Given the description of an element on the screen output the (x, y) to click on. 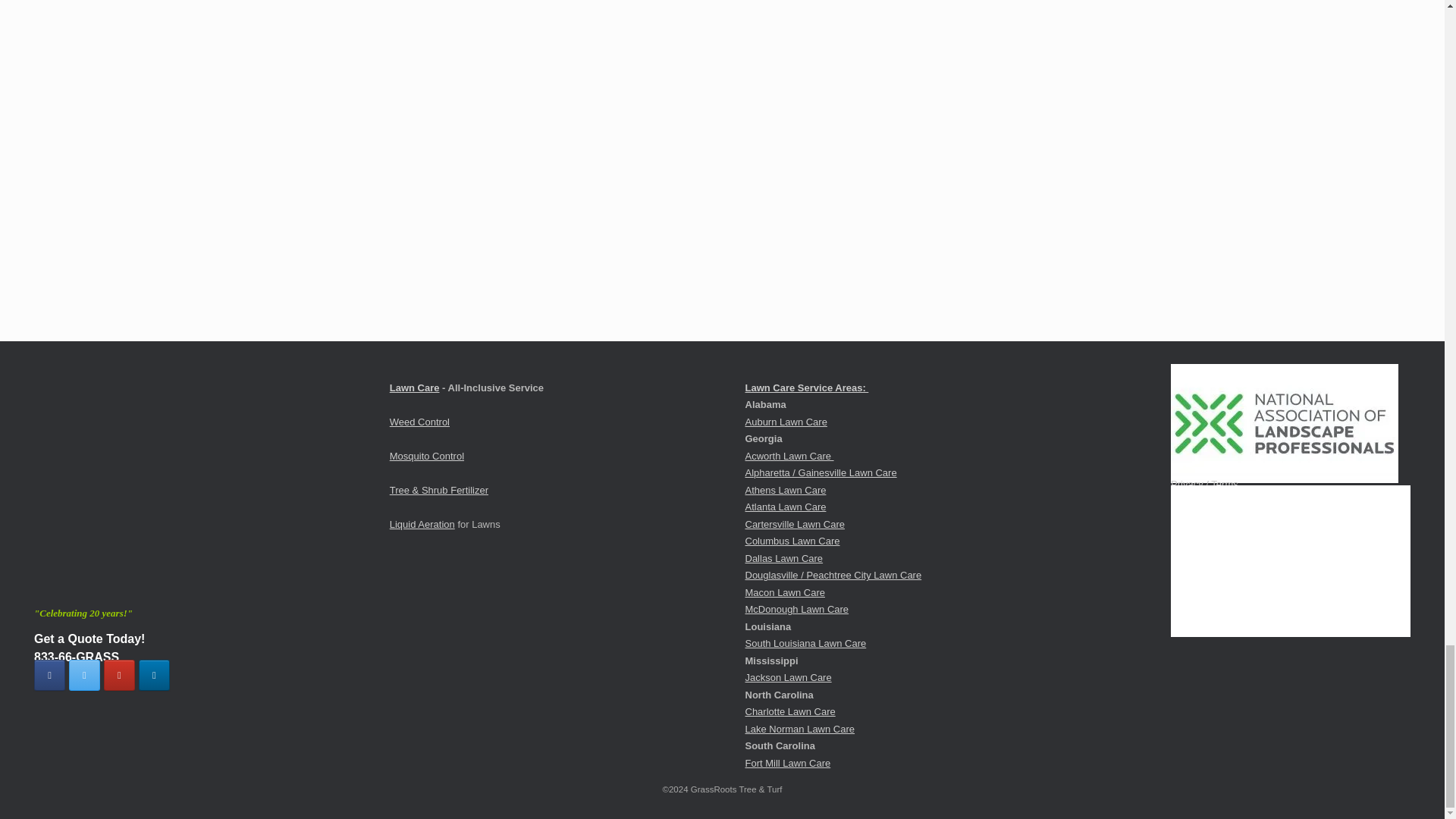
833-66-GRASS (76, 656)
Lawn Care (414, 387)
Lawn Care Association Georgia (1272, 560)
Lawn Care association for professionals logo (1283, 423)
Weed Control (419, 421)
Georgia Agriculture and Service (1272, 560)
Mosquito Control (427, 455)
